Given the description of an element on the screen output the (x, y) to click on. 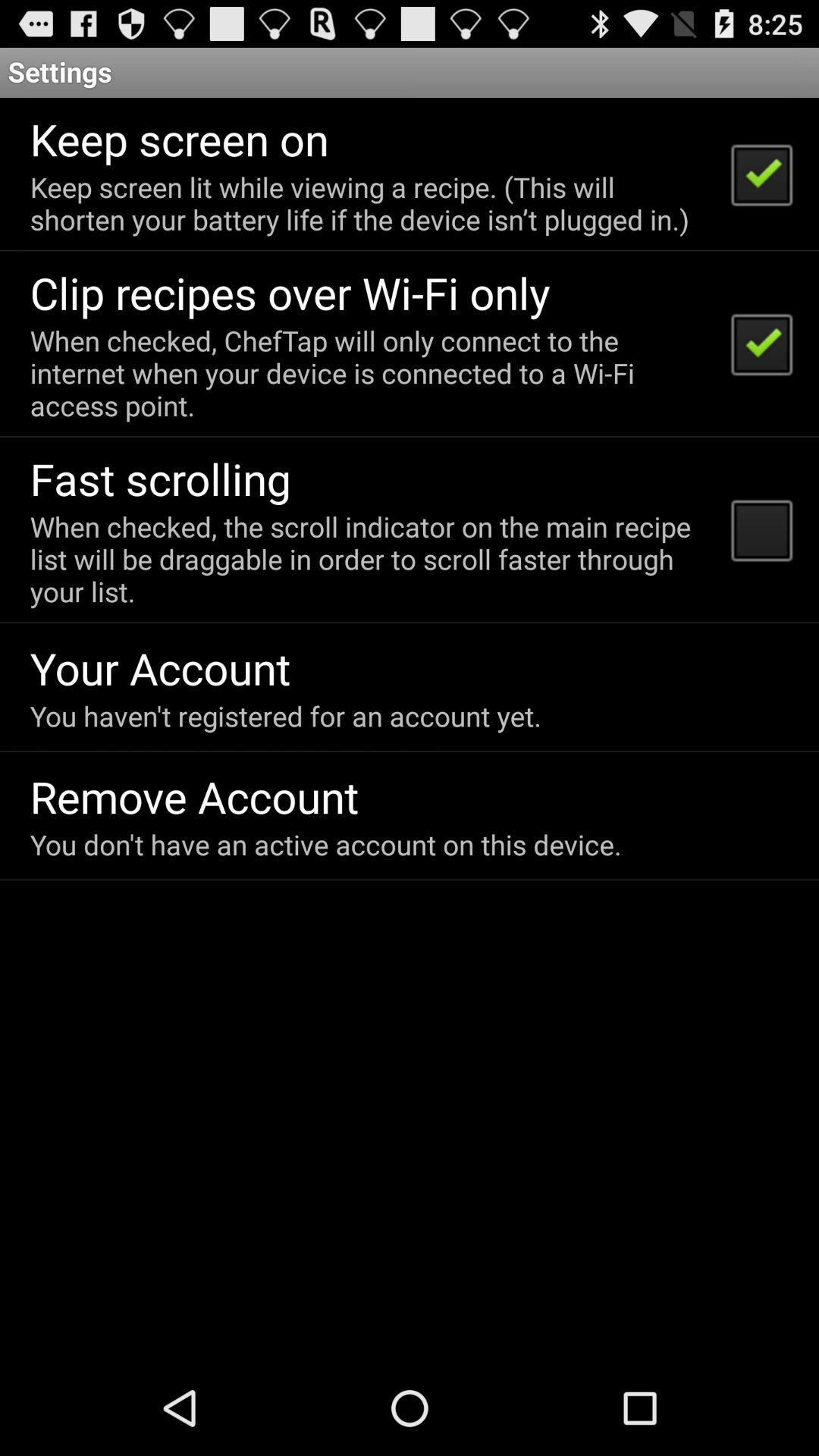
select icon above you don t app (194, 796)
